Given the description of an element on the screen output the (x, y) to click on. 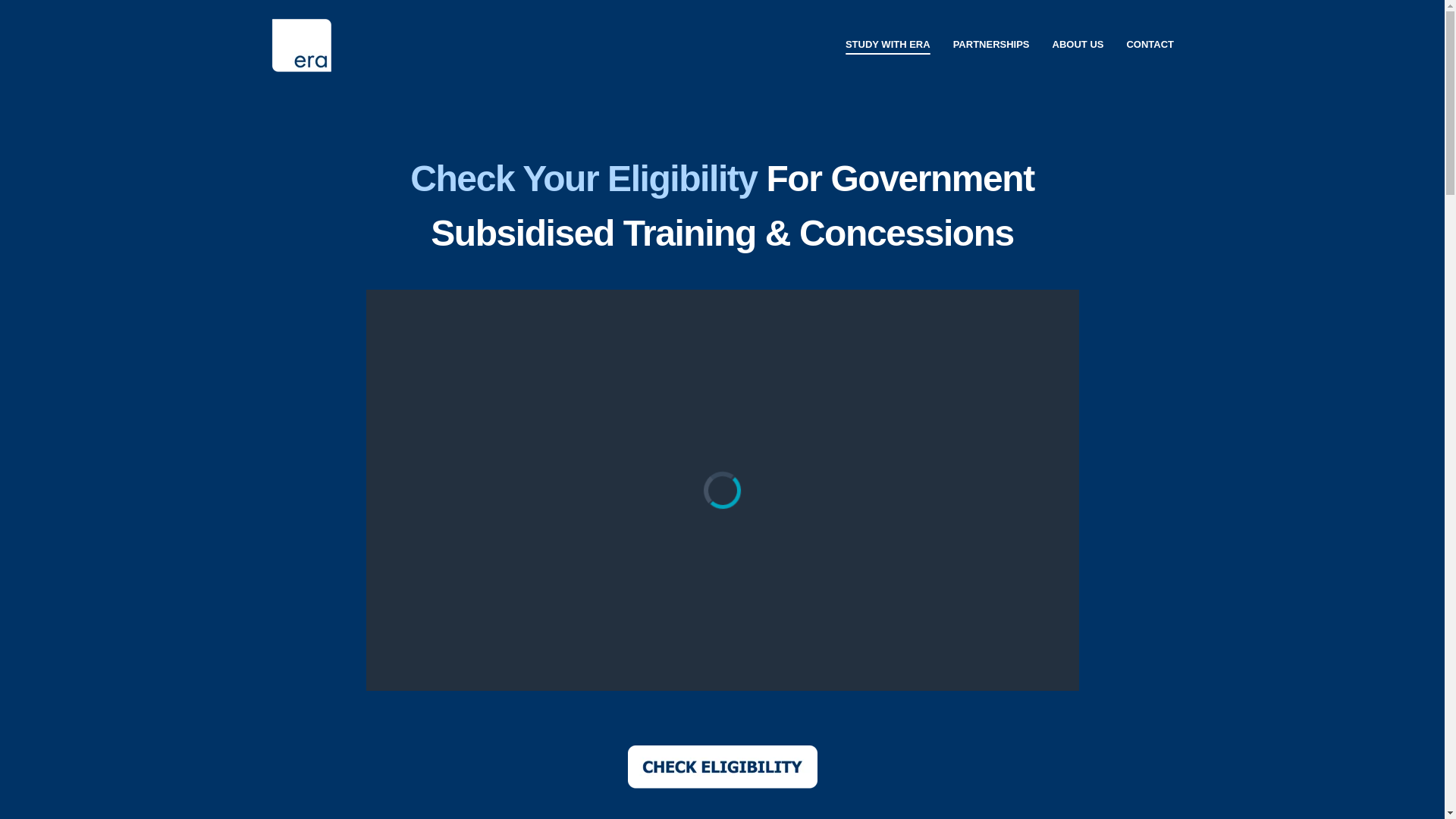
ABOUT US Element type: text (1078, 44)
STUDY WITH ERA Element type: text (887, 44)
HLT43021_You_May_Be_Eligible_For_Government_Funding Element type: hover (721, 489)
CONTACT Element type: text (1149, 44)
PARTNERSHIPS Element type: text (991, 44)
Exercise Research Australia Element type: hover (300, 45)
